Given the description of an element on the screen output the (x, y) to click on. 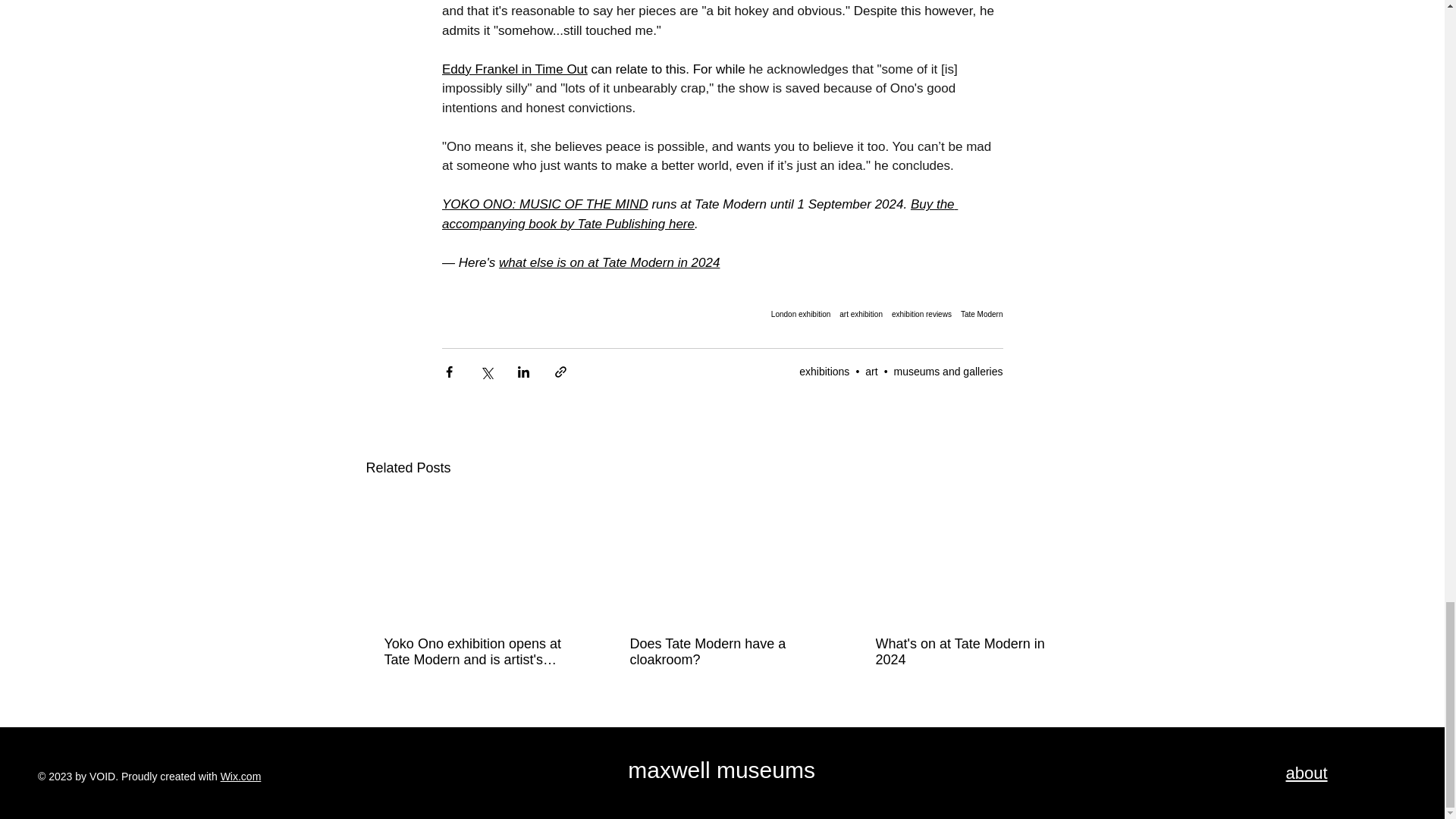
What's on at Tate Modern in 2024 (966, 652)
art (870, 371)
Buy the accompanying book by Tate Publishing here (698, 213)
Eddy Frankel in Time Out (513, 69)
London exhibition (800, 314)
Wix.com (241, 776)
museums and galleries (948, 371)
exhibitions (823, 371)
what else is on at Tate Modern in 2024 (609, 262)
